Given the description of an element on the screen output the (x, y) to click on. 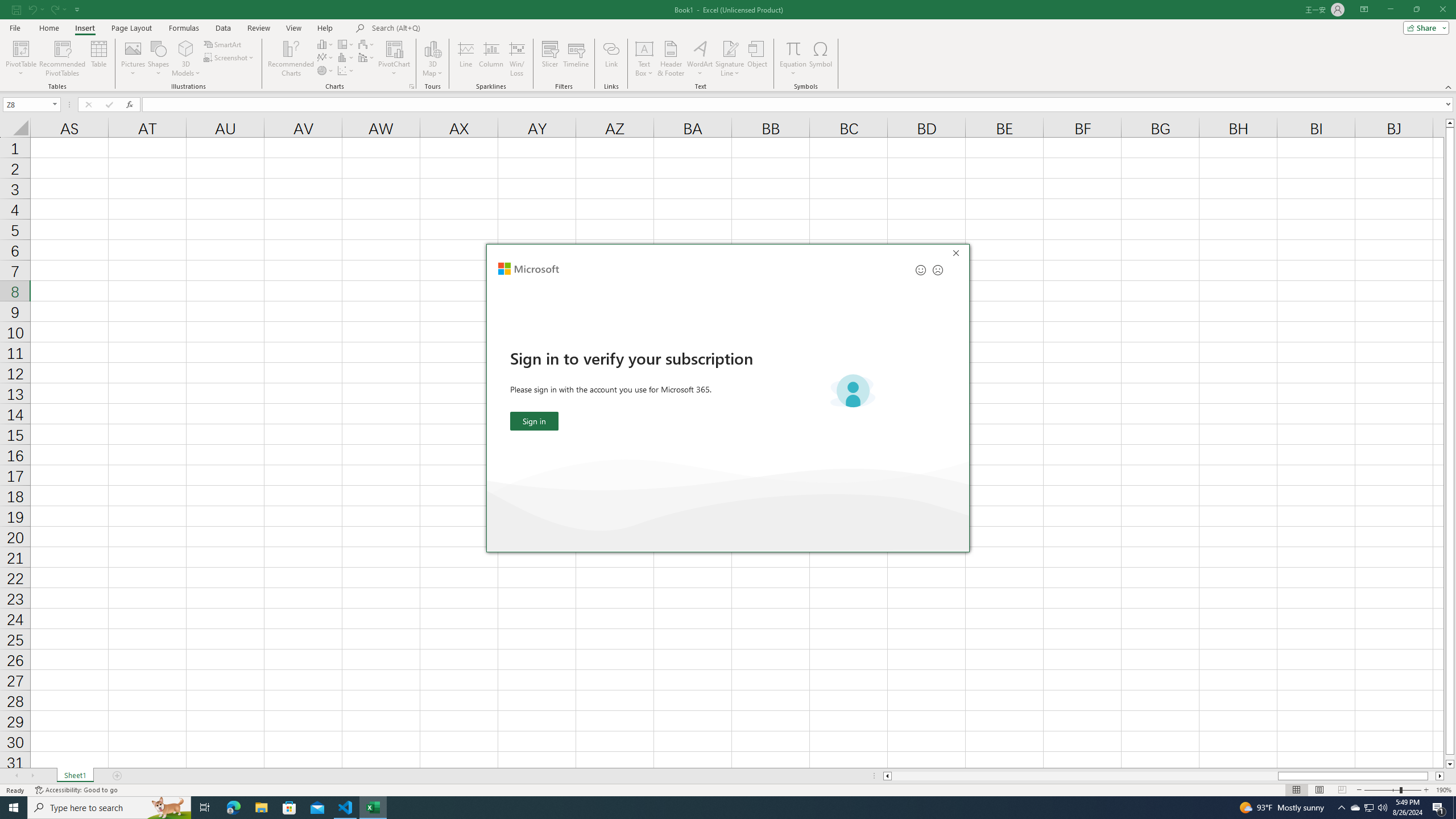
Notification Chevron (1341, 807)
Formula Bar (798, 104)
Microsoft search (450, 28)
Running applications (717, 807)
Share (1423, 27)
Zoom In (1426, 790)
Class: MsoCommandBar (728, 45)
Page Break Preview (1342, 790)
Header & Footer... (670, 58)
Review (258, 28)
Screenshot (229, 56)
Save (16, 9)
Column left (886, 775)
